Given the description of an element on the screen output the (x, y) to click on. 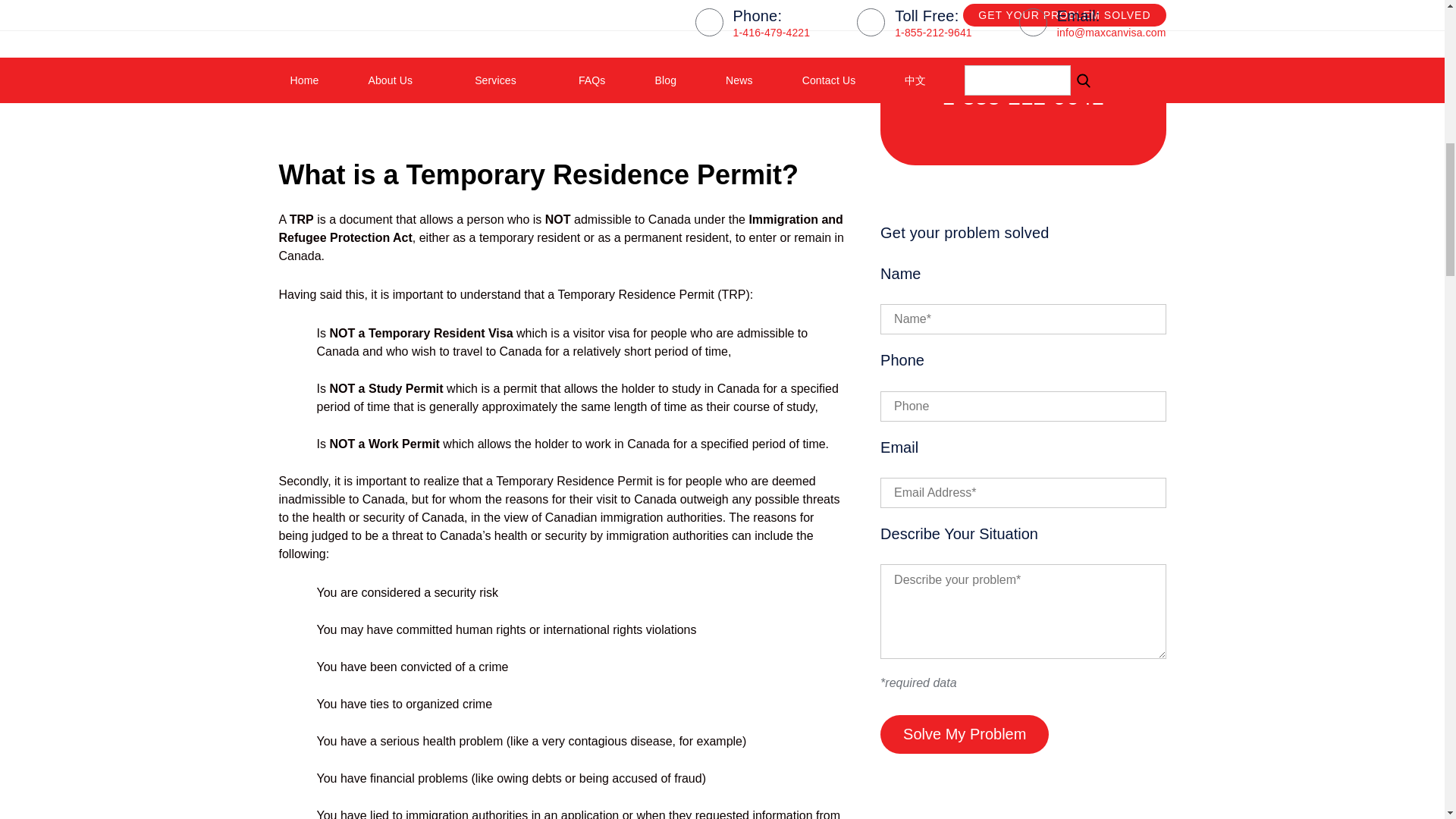
Solve My Problem (964, 733)
